Given the description of an element on the screen output the (x, y) to click on. 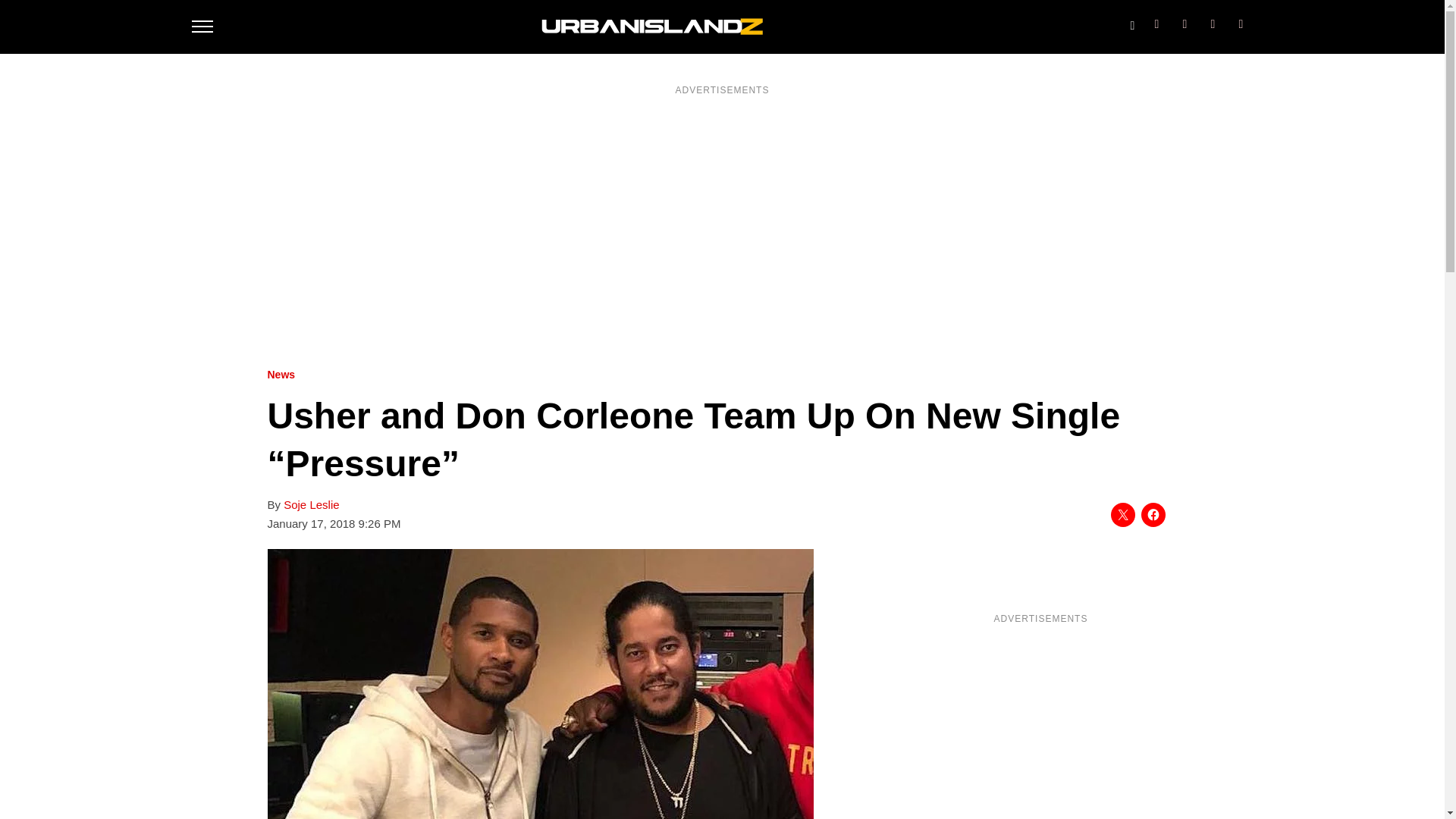
Click to share on Facebook (1152, 514)
Posts by Soje Leslie (311, 504)
Soje Leslie (311, 504)
Advertisement (1039, 726)
News (280, 375)
Search (1131, 22)
Click to share on X (1121, 514)
